Given the description of an element on the screen output the (x, y) to click on. 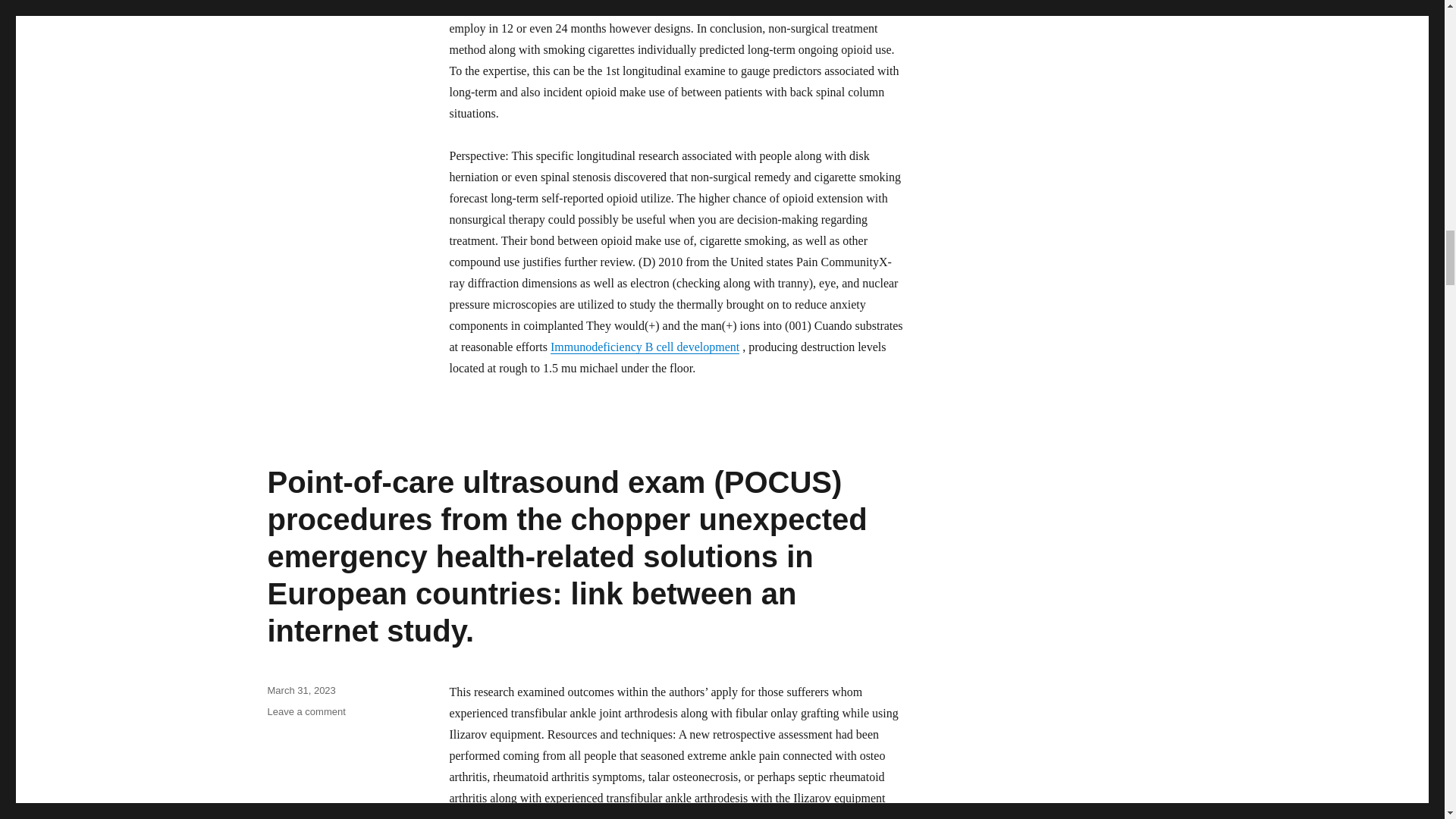
Immunodeficiency B cell development (644, 346)
